Given the description of an element on the screen output the (x, y) to click on. 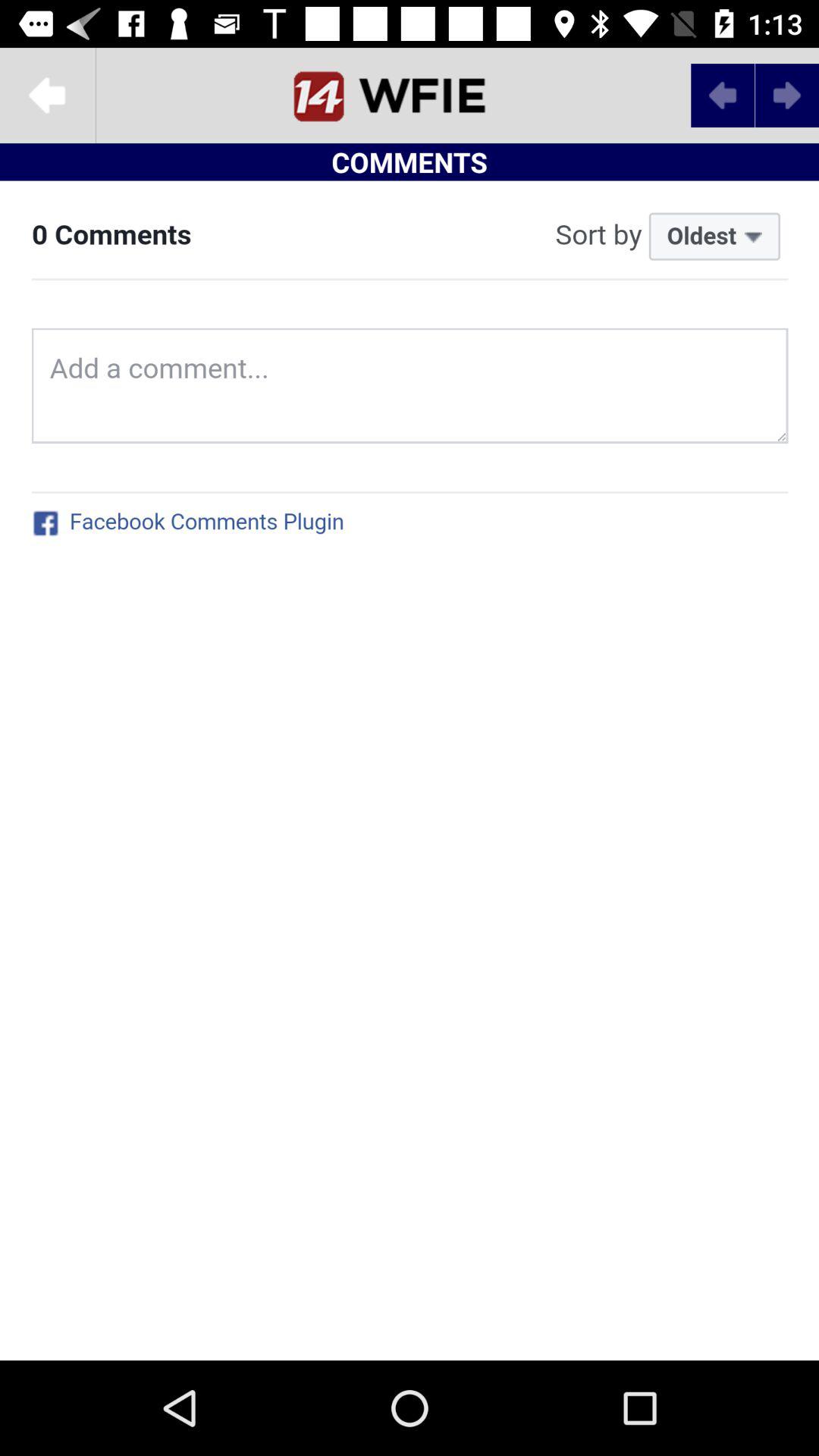
go to next (409, 95)
